Given the description of an element on the screen output the (x, y) to click on. 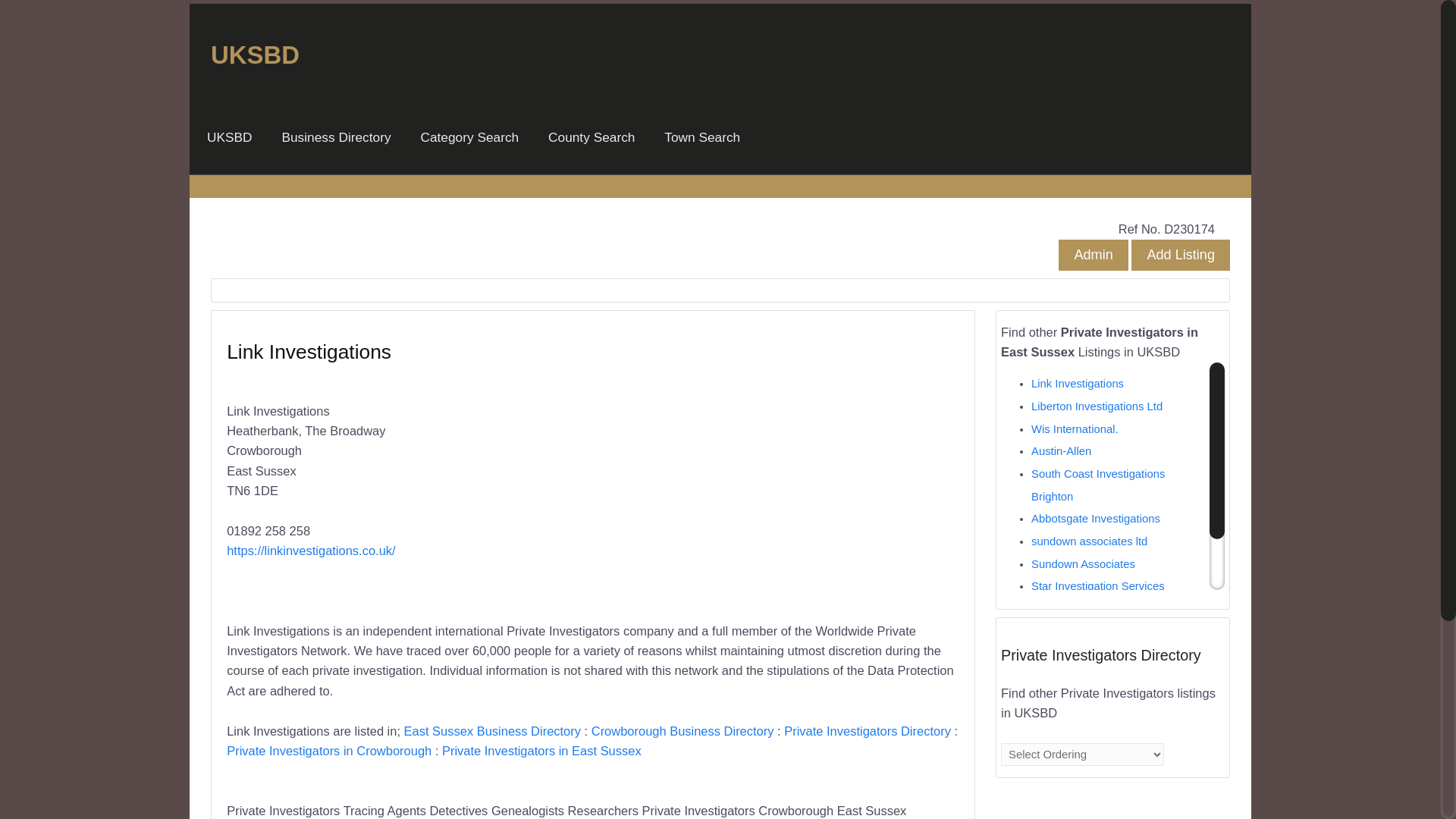
Admin (1092, 254)
Private Investigators in East Sussex (542, 750)
Sundown Associates (1082, 563)
Add Listing (1180, 254)
Category Search (468, 137)
Link Investigations (1077, 383)
Add Listing (1180, 255)
Wis International. (1074, 428)
Admin (1092, 255)
Town Search (702, 137)
